Given the description of an element on the screen output the (x, y) to click on. 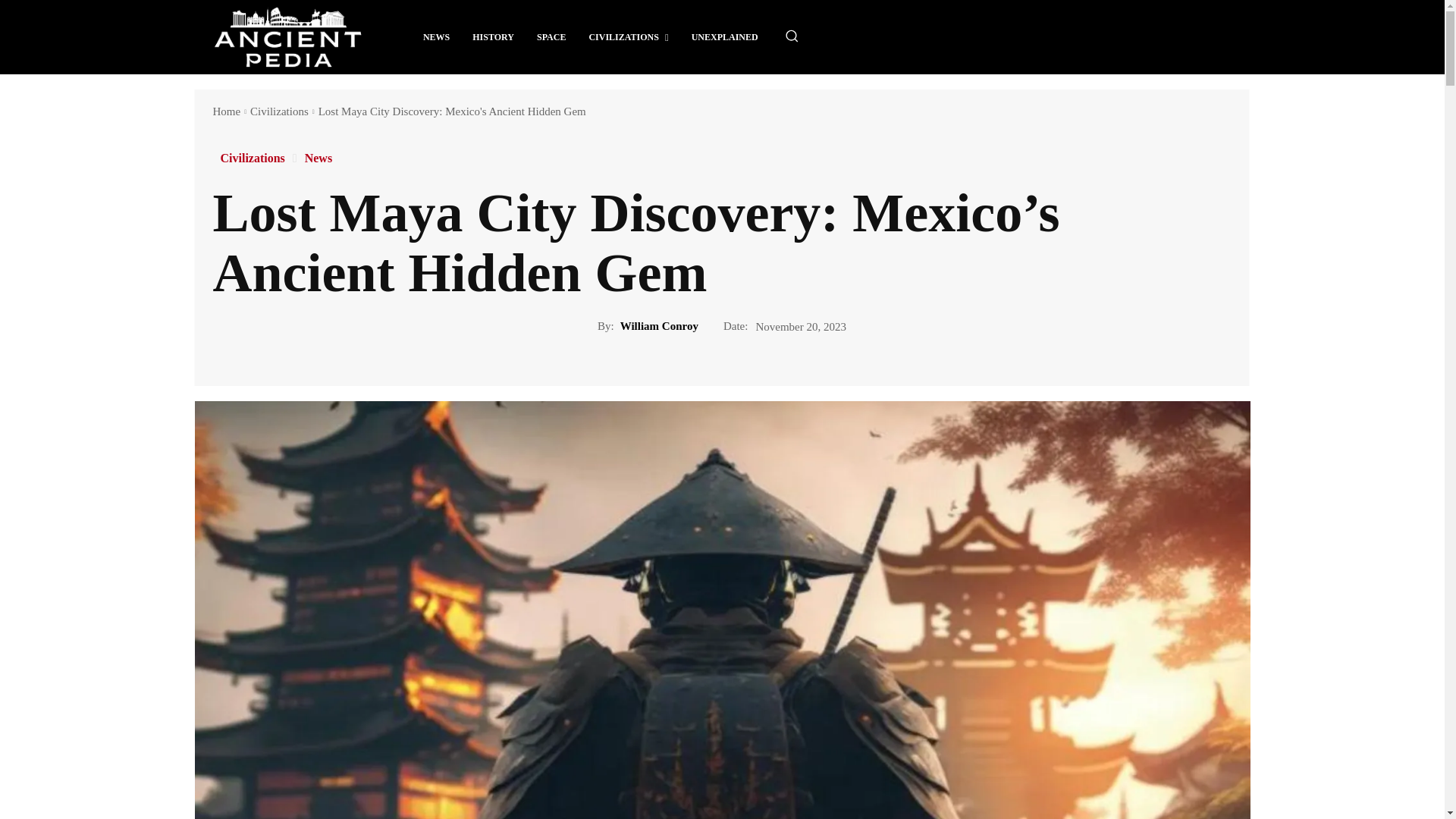
View all posts in Civilizations (279, 111)
NEWS (436, 36)
CIVILIZATIONS (627, 36)
UNEXPLAINED (724, 36)
HISTORY (493, 36)
SPACE (550, 36)
